Given the description of an element on the screen output the (x, y) to click on. 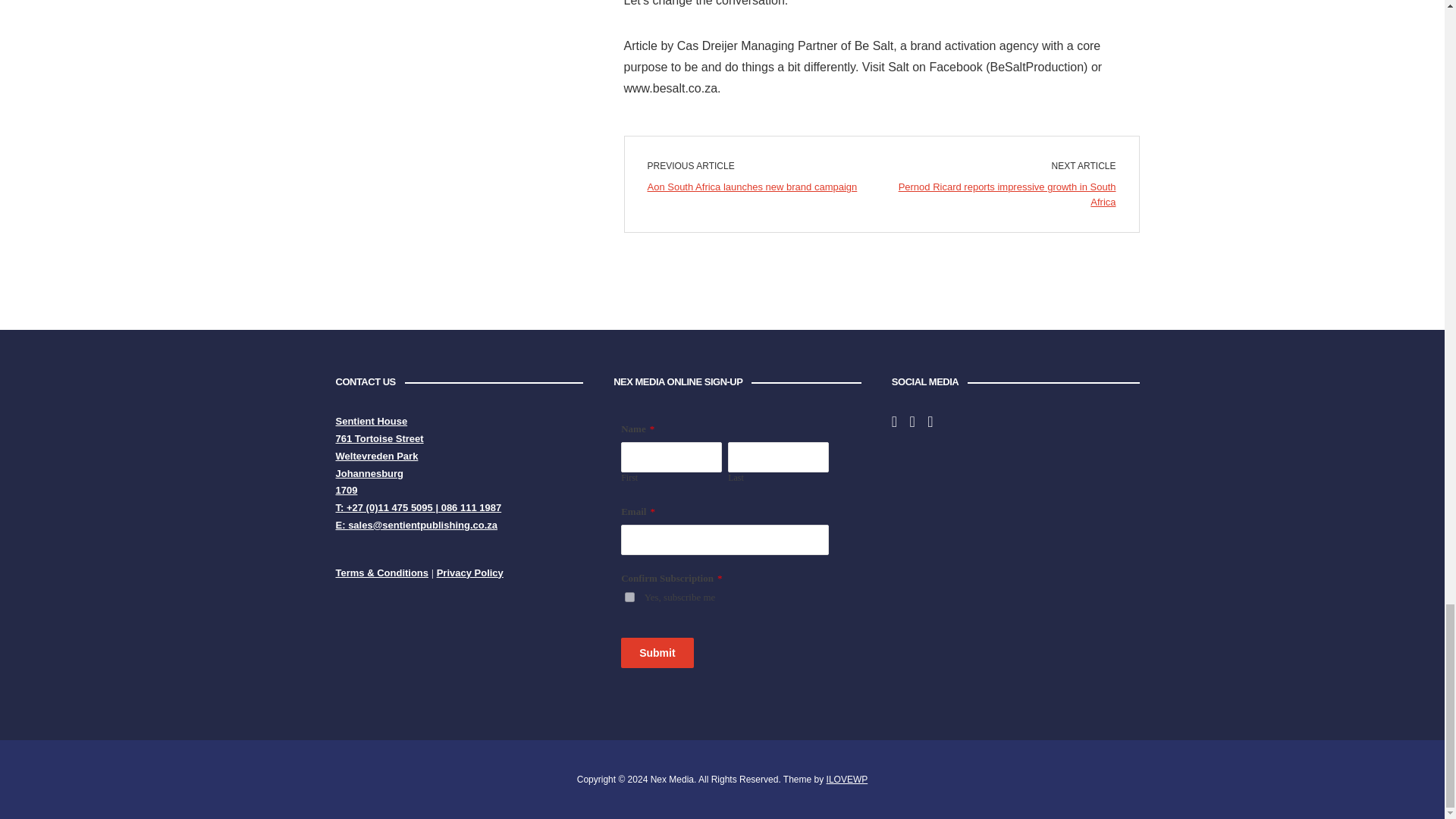
Yes, subscribe me (629, 596)
Pernod Ricard reports impressive growth in South Africa (1007, 194)
Aon South Africa launches new brand campaign (752, 186)
